Given the description of an element on the screen output the (x, y) to click on. 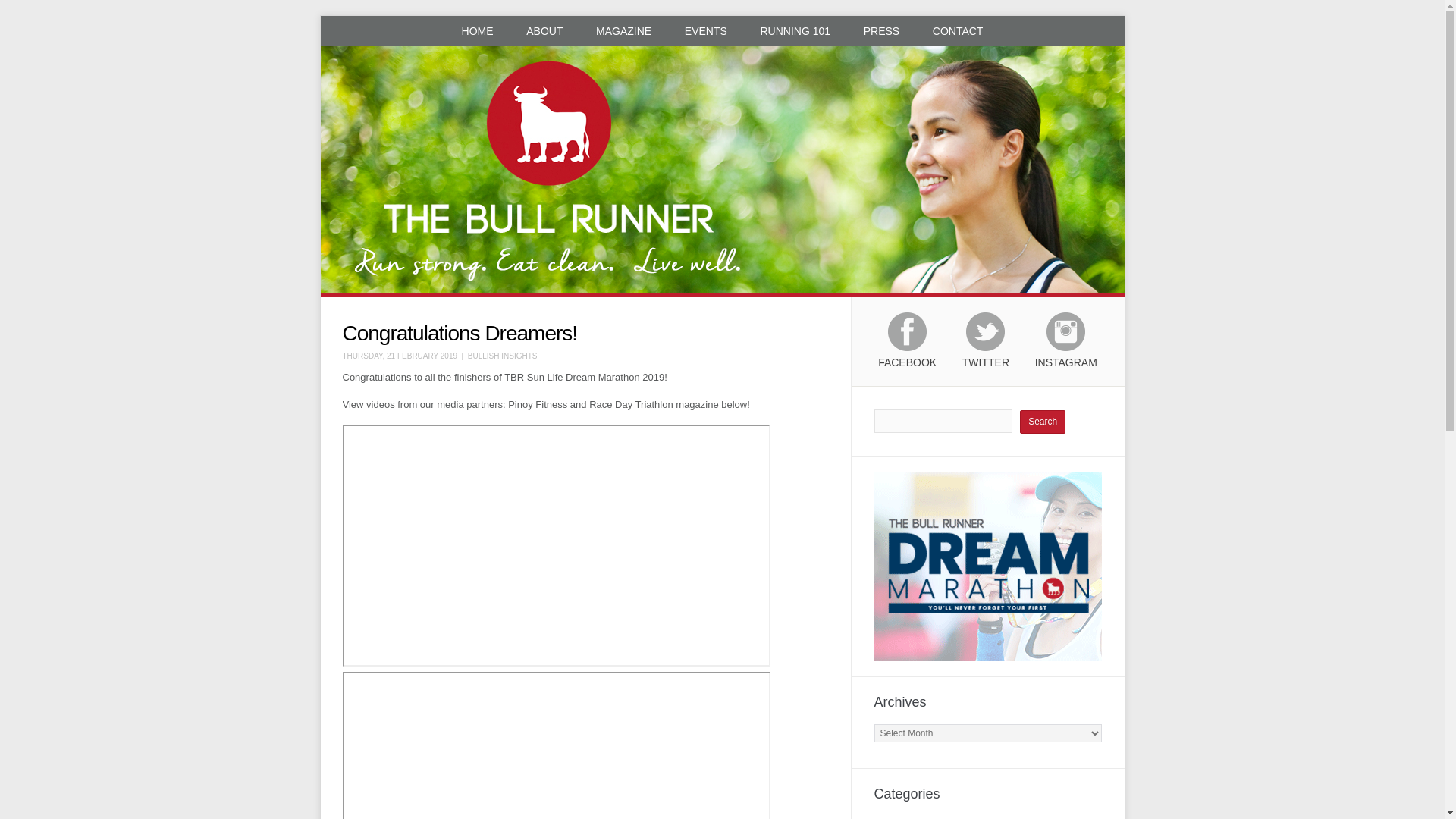
EVENTS (705, 30)
INSTAGRAM (1066, 348)
TWITTER (985, 348)
ABOUT (544, 30)
Bullish Insights (906, 818)
FACEBOOK (906, 348)
Search (1042, 421)
BULLISH INSIGHTS (502, 356)
HOME (477, 30)
Search (1042, 421)
RUNNING 101 (794, 30)
MAGAZINE (623, 30)
CONTACT (957, 30)
Congratulations Dreamers! (460, 332)
Permalink to Congratulations Dreamers! (460, 332)
